Given the description of an element on the screen output the (x, y) to click on. 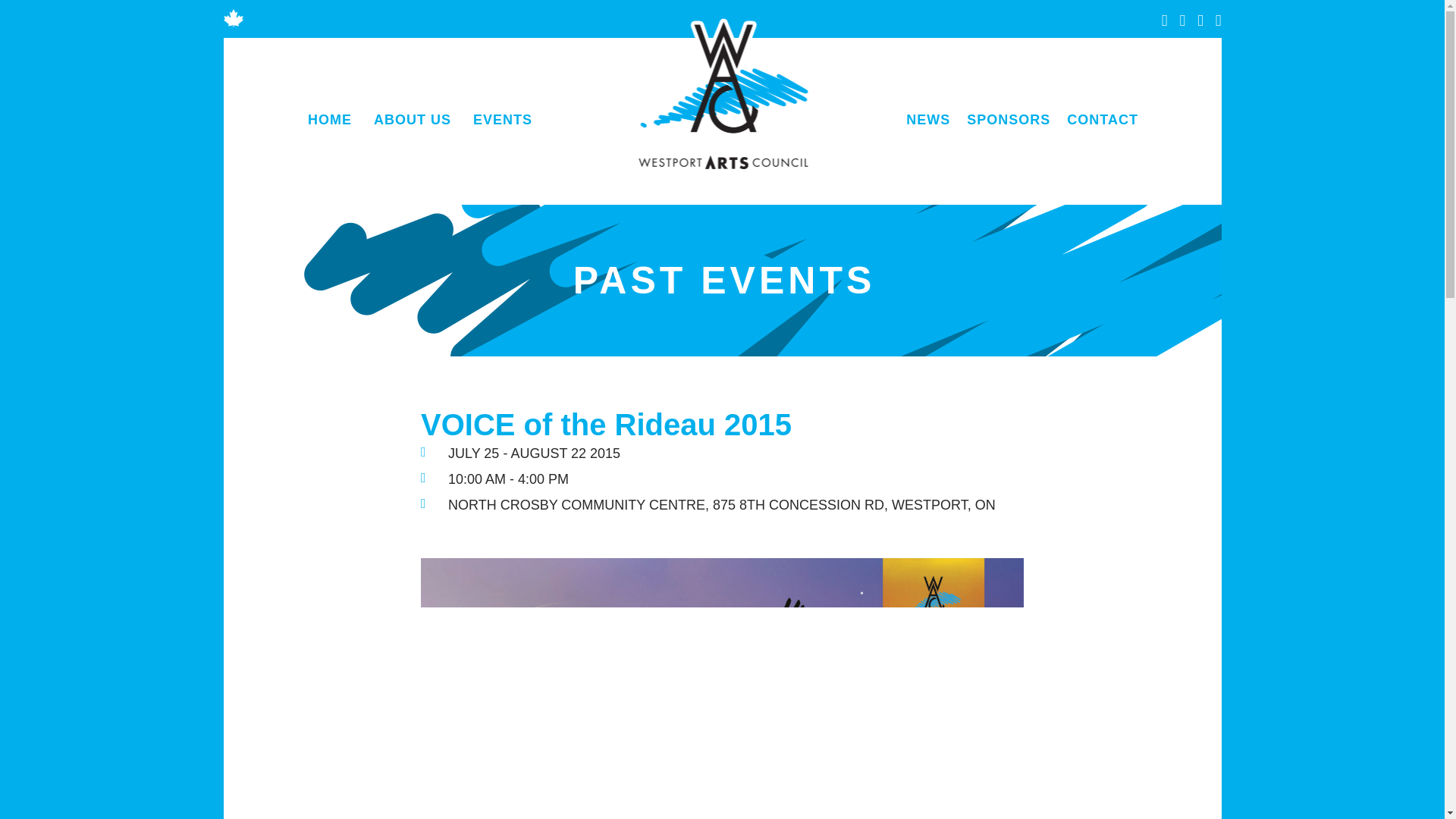
NEWS (927, 119)
EVENTS (501, 119)
CONTACT (1101, 119)
HOME (329, 119)
SPONSORS (1007, 119)
ABOUT US (411, 119)
